Given the description of an element on the screen output the (x, y) to click on. 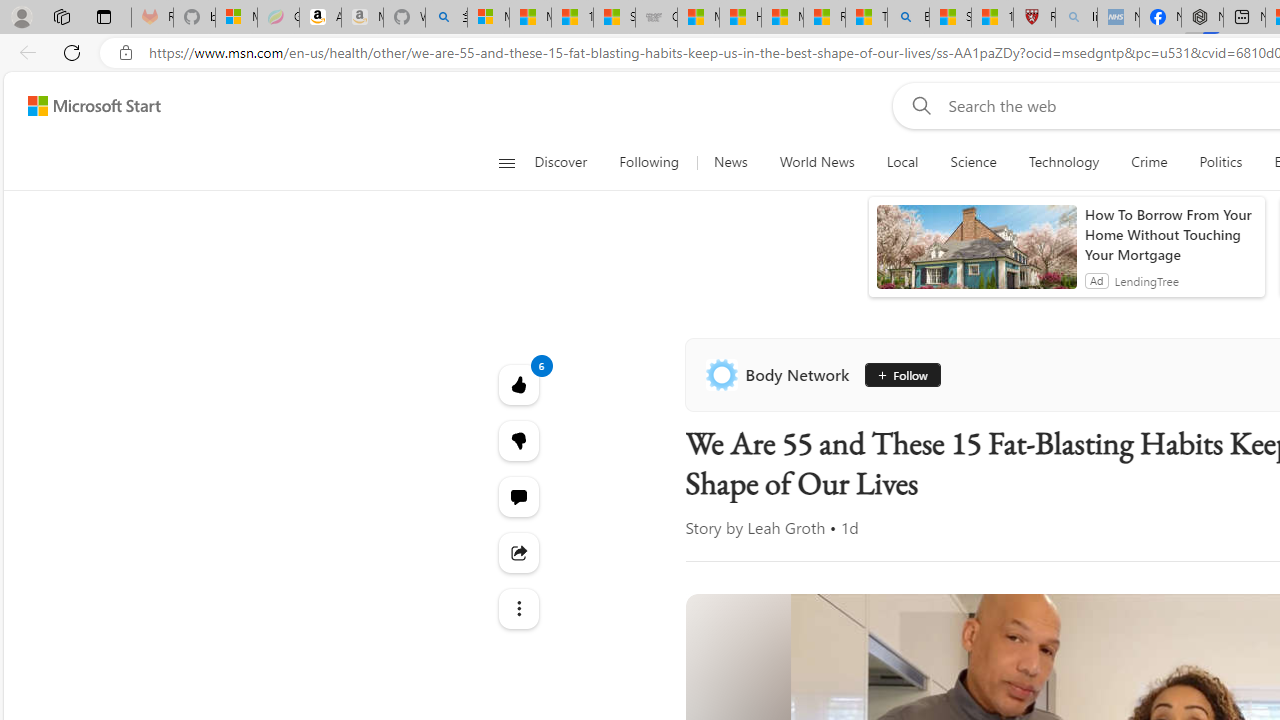
12 Popular Science Lies that Must be Corrected (991, 17)
Recipes - MSN (823, 17)
anim-content (975, 255)
LendingTree (1145, 280)
